Given the description of an element on the screen output the (x, y) to click on. 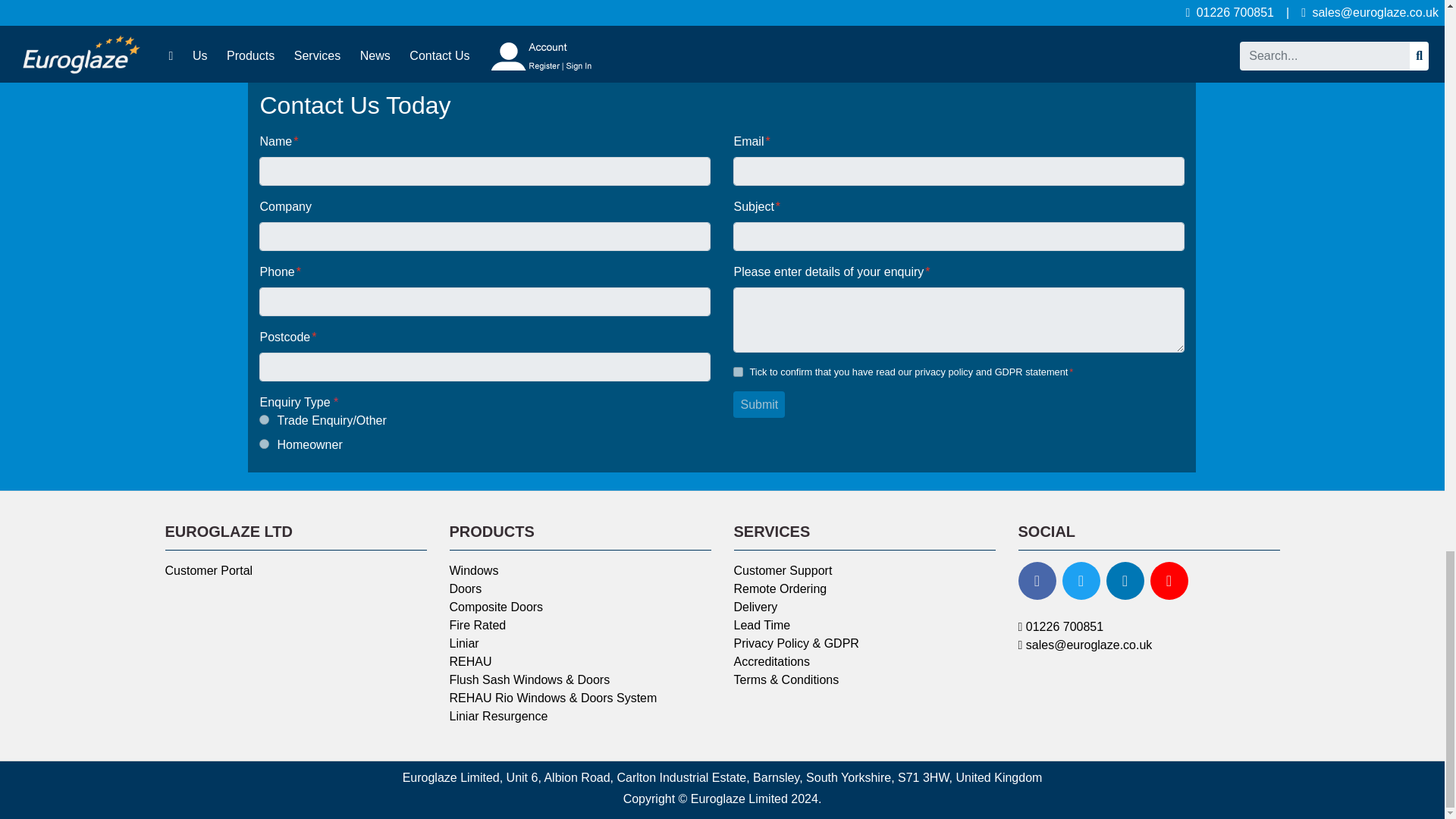
Windows (472, 570)
GDPR Privacy Policy (990, 371)
Tel: 01226 700851 (1060, 626)
Fire Rated (476, 625)
REHAU (470, 661)
privacy policy and GDPR statement (990, 371)
1 (737, 371)
Composite Doors (495, 606)
Submit (758, 404)
Doors (464, 588)
